Given the description of an element on the screen output the (x, y) to click on. 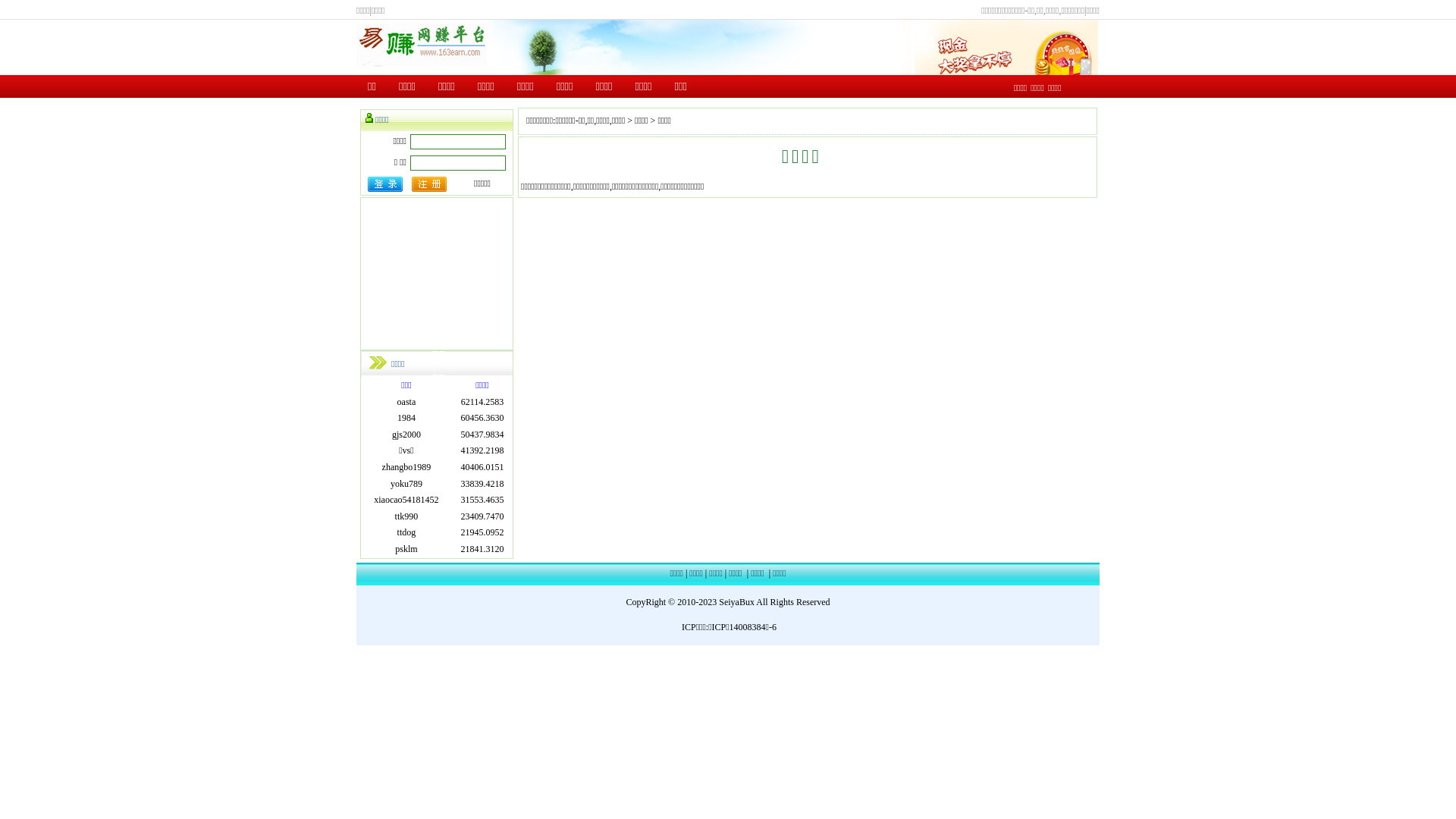
SeiyaBux Element type: text (736, 601)
Advertisement Element type: hover (436, 273)
